Given the description of an element on the screen output the (x, y) to click on. 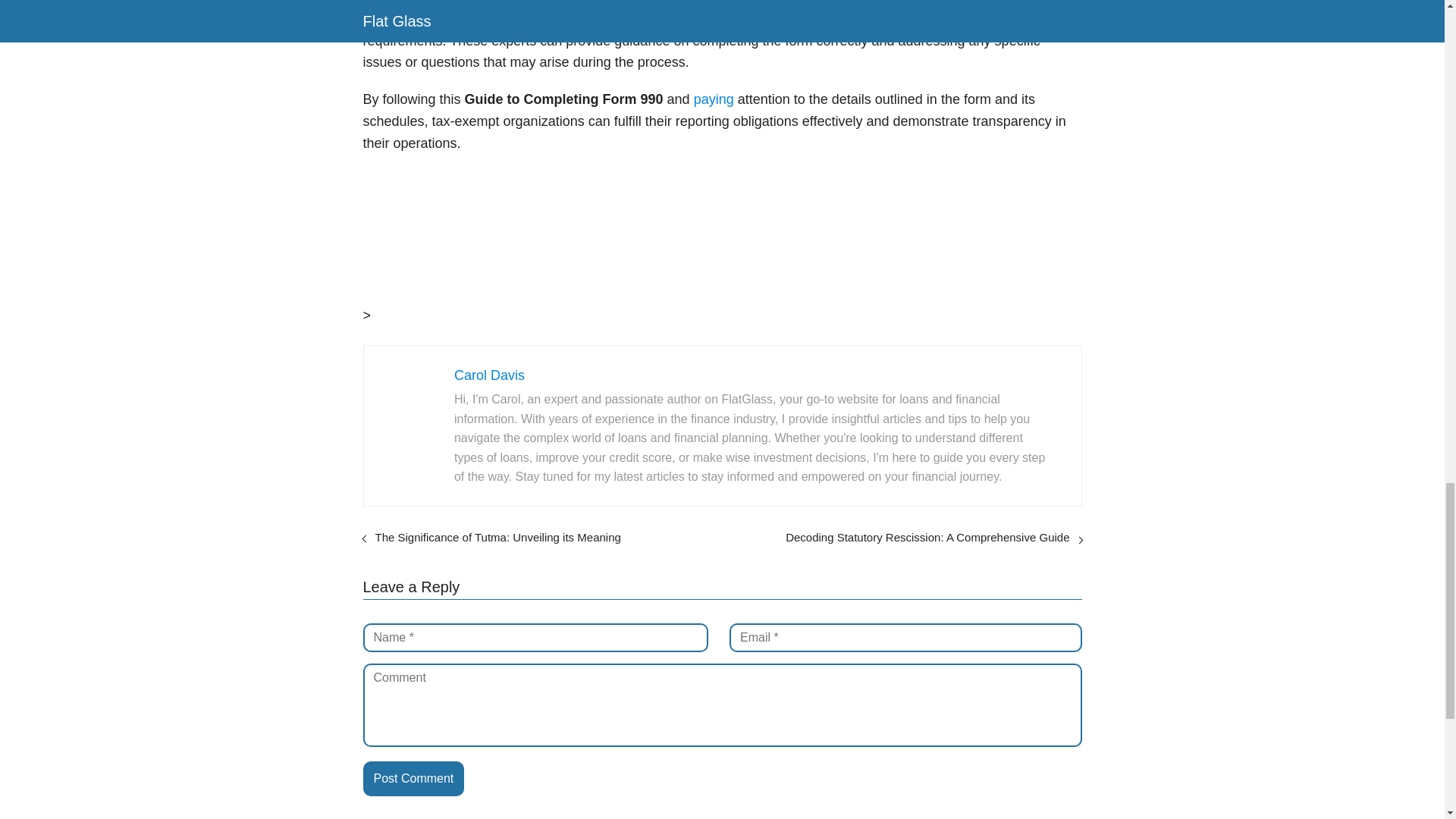
Post Comment (413, 778)
Carol Davis (489, 375)
The Significance of Tutma: Unveiling its Meaning (497, 536)
Decoding Statutory Rescission: A Comprehensive Guide (927, 536)
Post Comment (413, 778)
paying (713, 99)
